Given the description of an element on the screen output the (x, y) to click on. 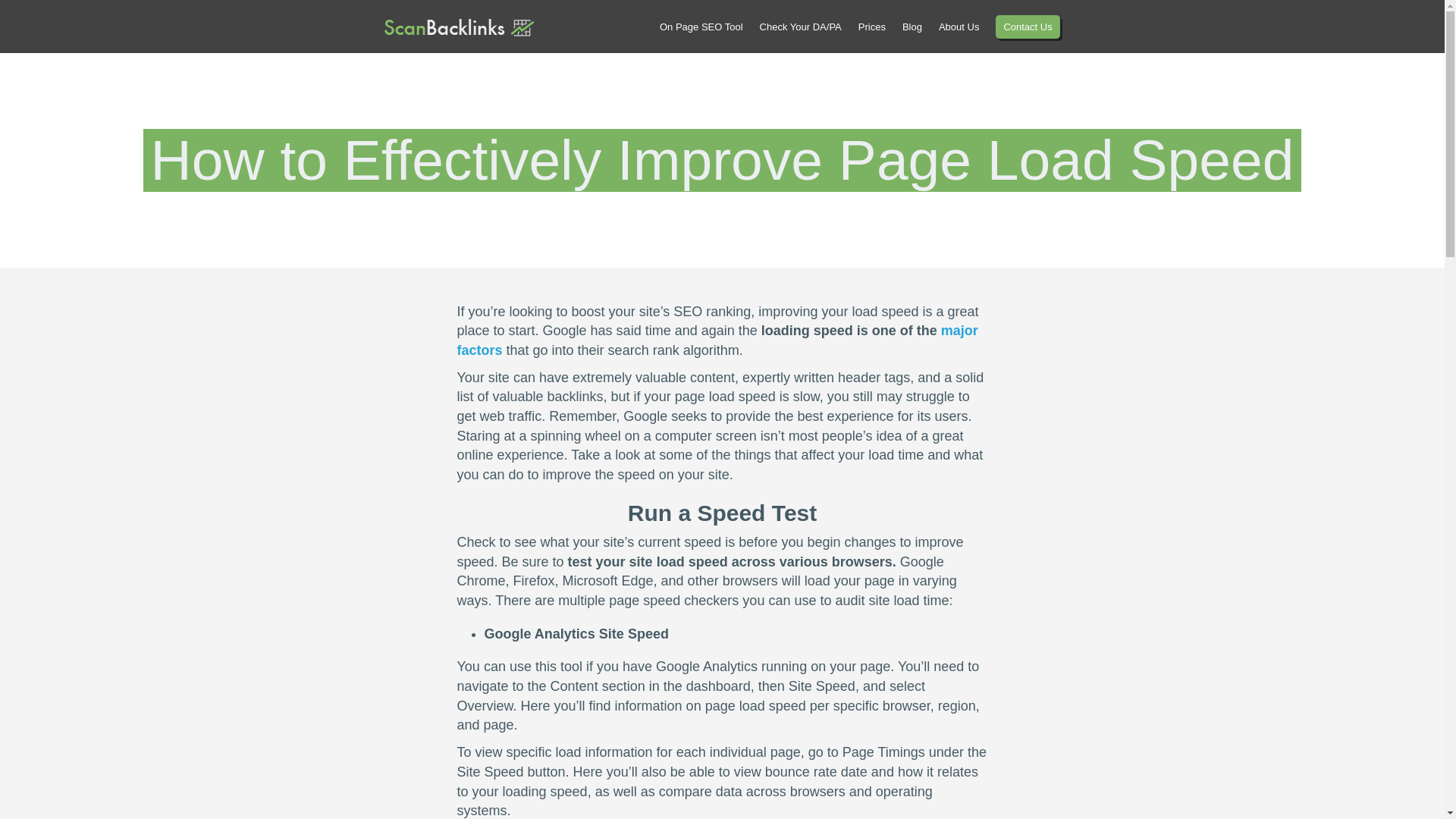
Blog (912, 26)
About Us (959, 26)
Prices (871, 26)
major factors (716, 339)
Contact Us (1027, 26)
On Page SEO Tool (701, 26)
